Given the description of an element on the screen output the (x, y) to click on. 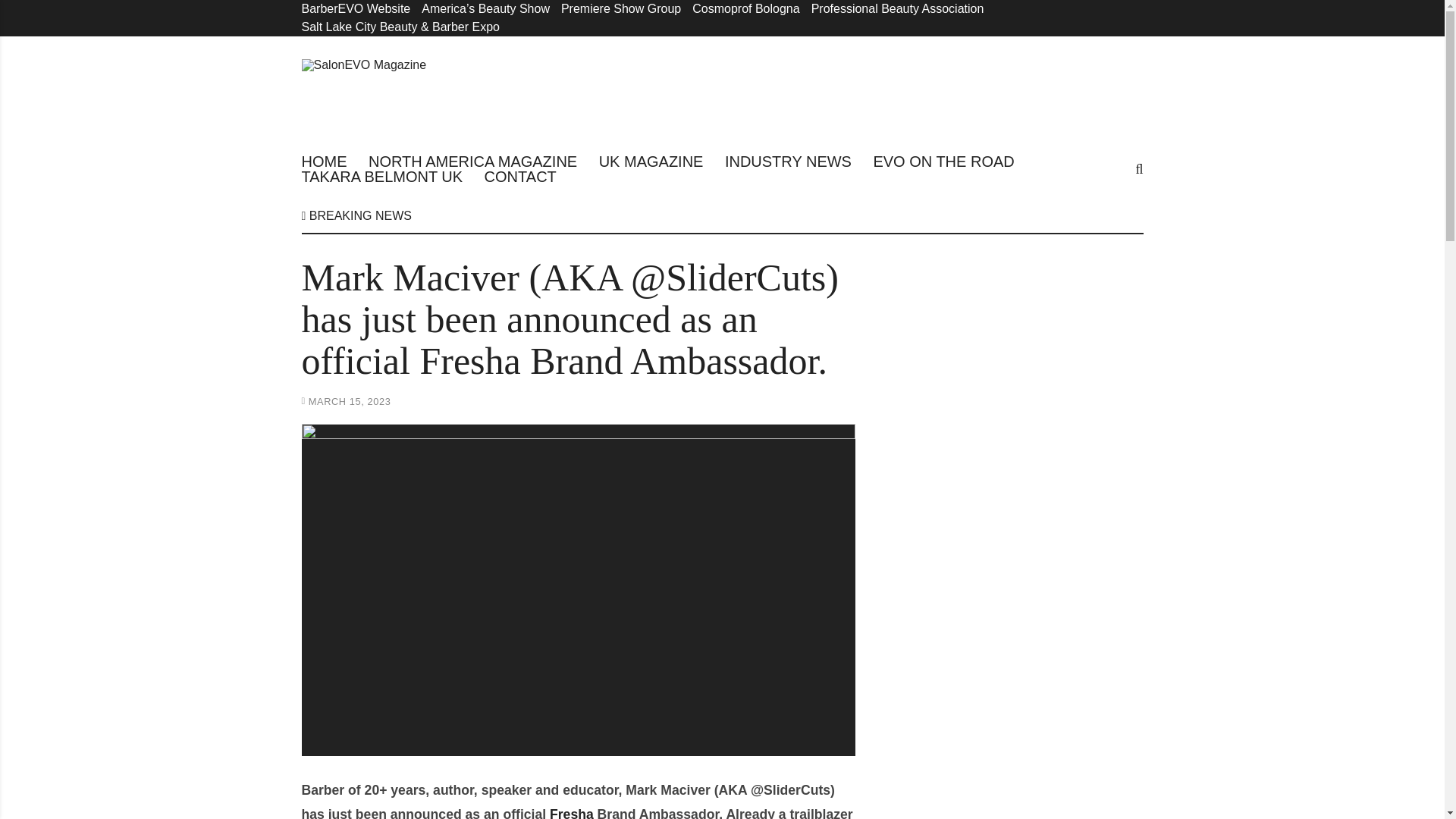
TAKARA BELMONT UK (382, 176)
SalonEVO Magazine (400, 94)
BarberEVO Website (355, 8)
Cosmoprof Bologna (746, 8)
Premiere Show Group (620, 8)
Professional Beauty Association (897, 8)
HOME (324, 160)
UK MAGAZINE (650, 160)
INDUSTRY NEWS (788, 160)
CONTACT (520, 176)
